Given the description of an element on the screen output the (x, y) to click on. 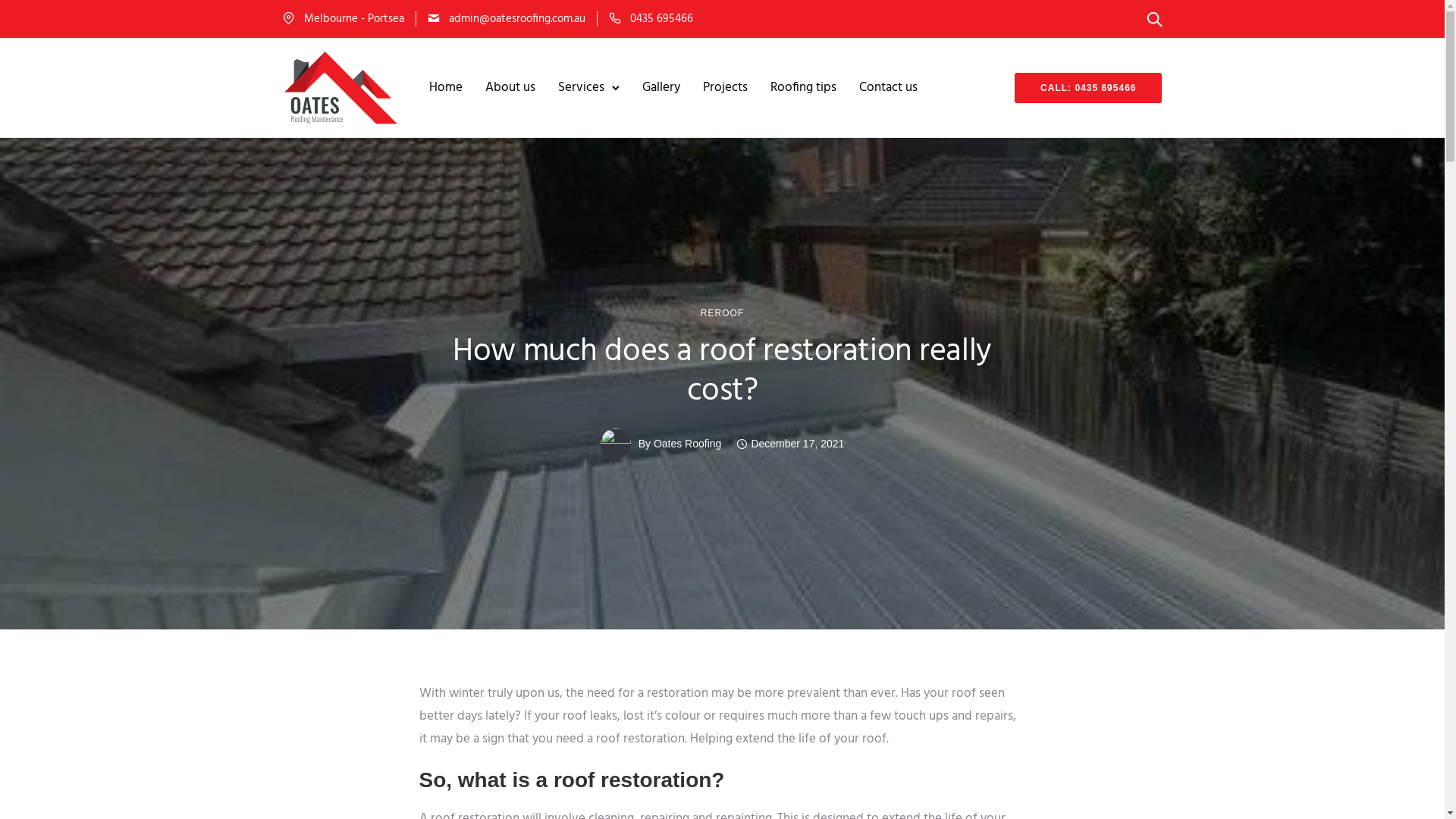
Home Element type: text (445, 87)
REROOF Element type: text (721, 312)
Projects Element type: text (725, 87)
Roofing tips Element type: text (803, 87)
How much does a roof restoration really cost? Element type: text (721, 371)
CALL: 0435 695466 Element type: text (1087, 87)
0435 695466 Element type: text (660, 18)
Gallery Element type: text (660, 87)
Melbourne - Portsea Element type: text (353, 18)
December 17, 2021 Element type: text (790, 443)
Oates Roofing Element type: text (687, 443)
Services Element type: text (580, 87)
Contact us Element type: text (888, 87)
About us Element type: text (509, 87)
